Given the description of an element on the screen output the (x, y) to click on. 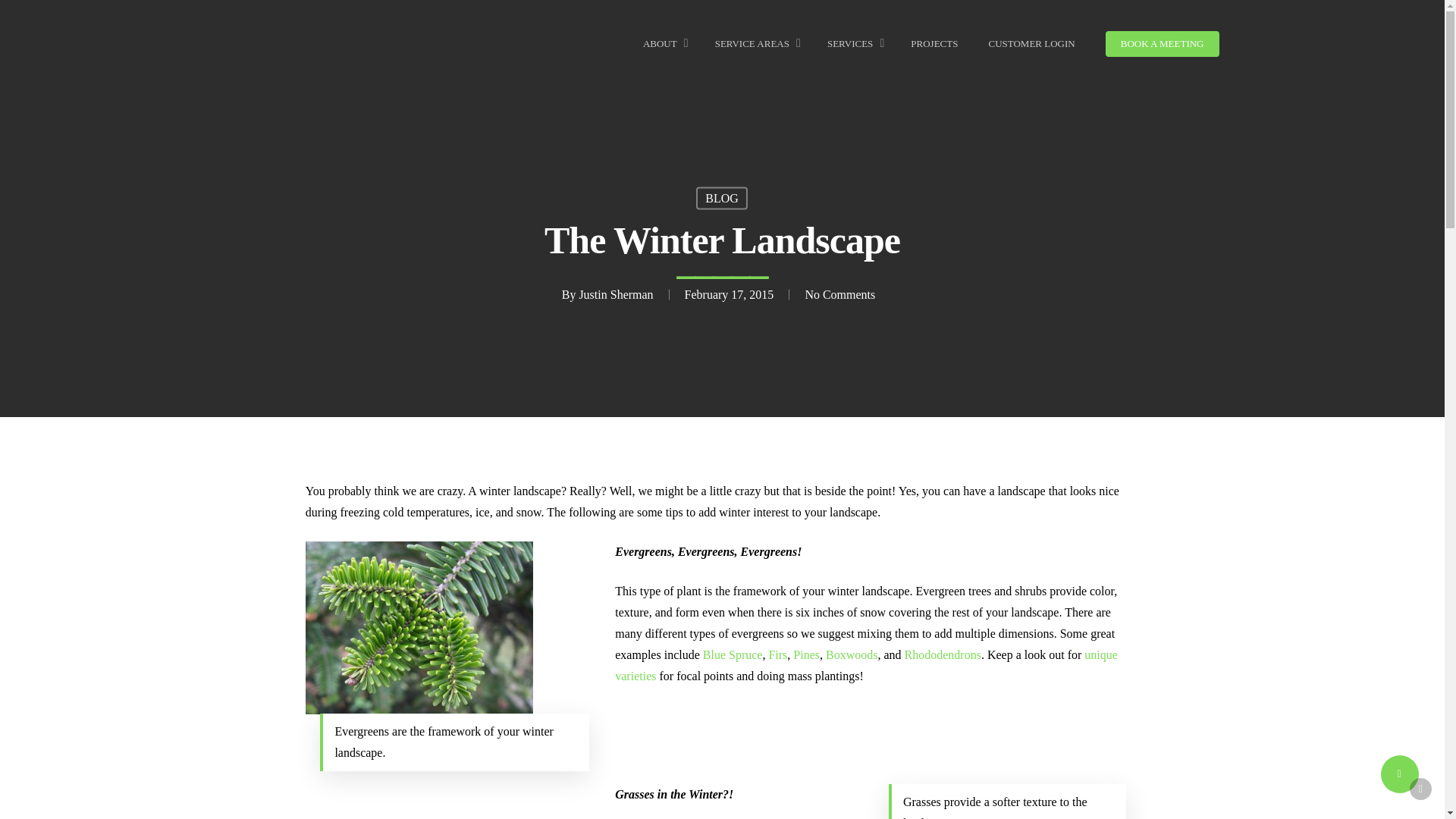
No Comments (840, 294)
Pines (806, 654)
CUSTOMER LOGIN (1031, 43)
SERVICES (853, 43)
BOOK A MEETING (1162, 43)
Firs (777, 654)
unique varieties (866, 665)
Posts by Justin Sherman (615, 294)
SERVICE AREAS (755, 43)
Justin Sherman (615, 294)
PROJECTS (934, 43)
ABOUT (663, 43)
BLOG (721, 197)
Boxwoods (851, 654)
Rhododendrons (942, 654)
